Given the description of an element on the screen output the (x, y) to click on. 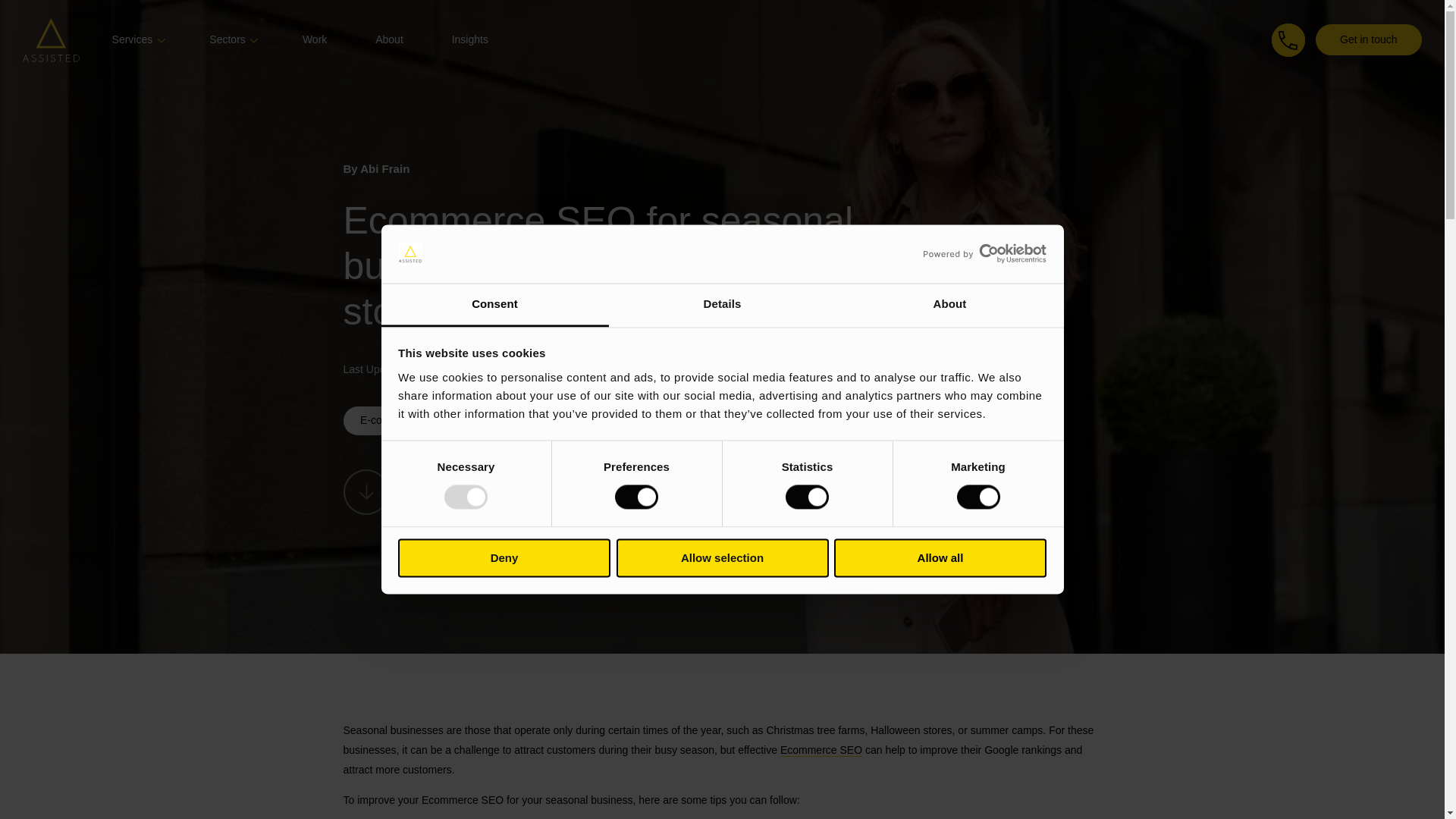
Consent (494, 304)
Details (721, 304)
About (948, 304)
